Given the description of an element on the screen output the (x, y) to click on. 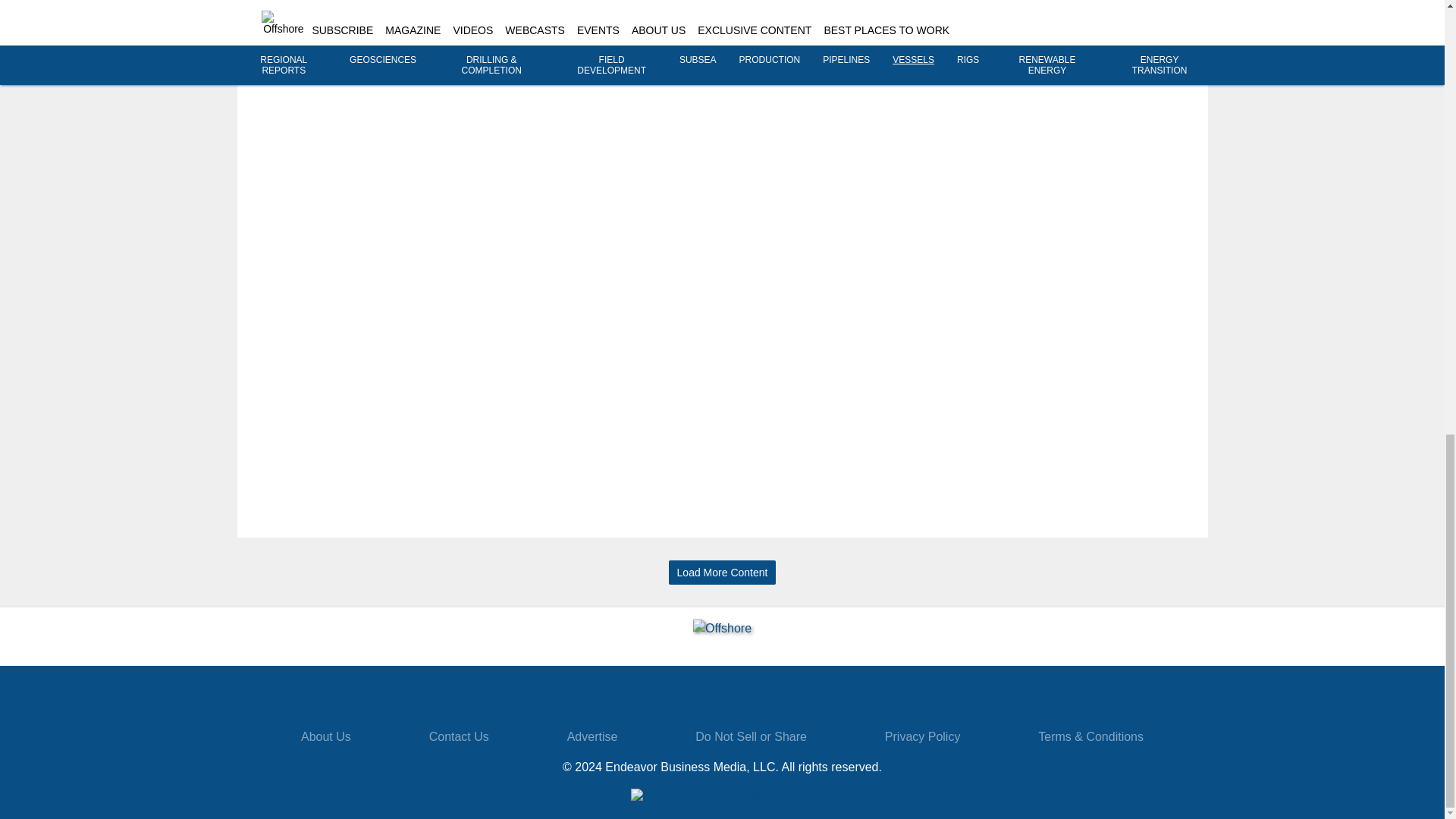
TGS cable failures 2024-2025 (1137, 15)
